Given the description of an element on the screen output the (x, y) to click on. 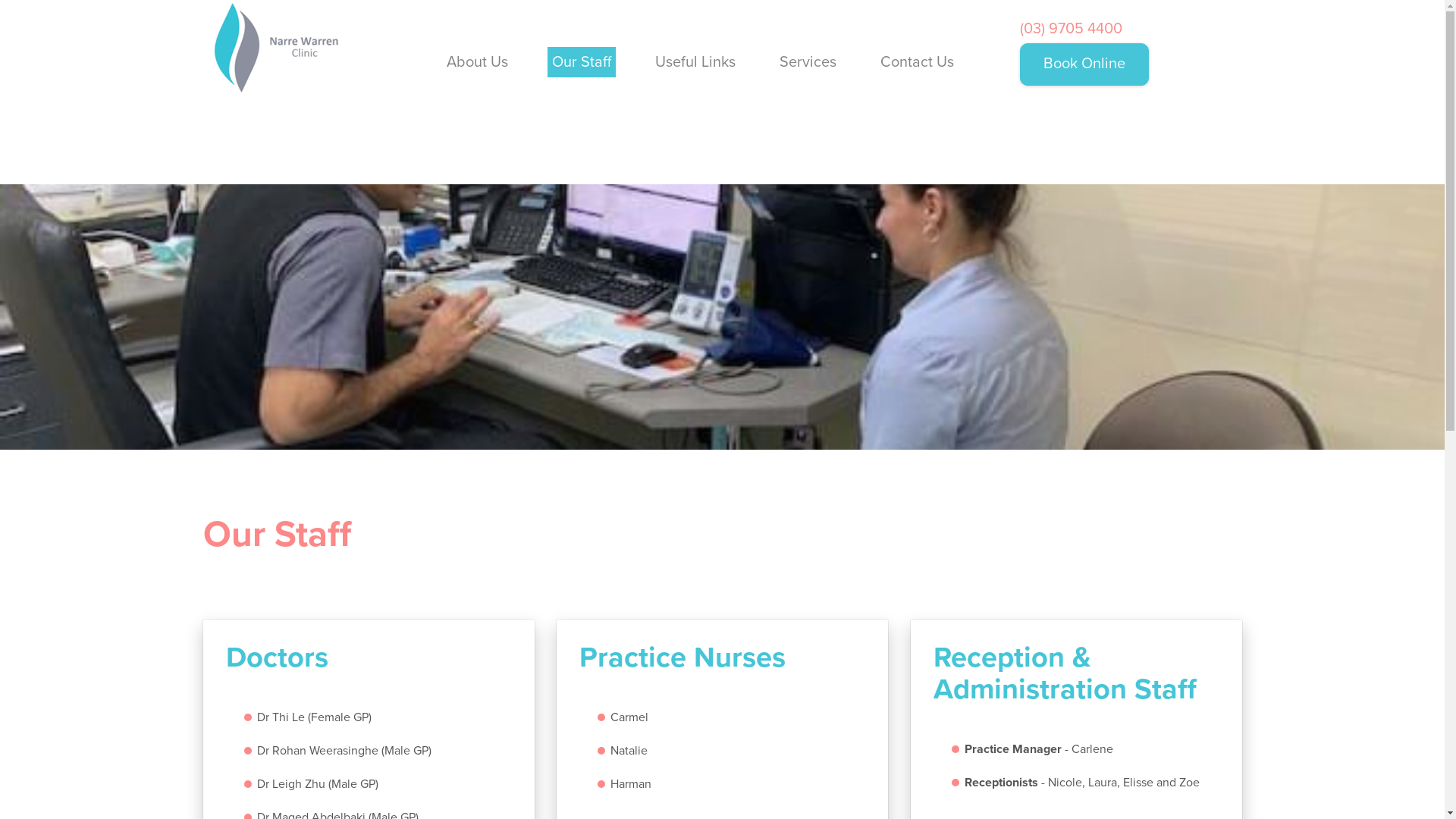
Services Element type: text (807, 62)
Our Staff Element type: text (581, 62)
Book Online Element type: text (1083, 64)
Contact Us Element type: text (916, 62)
About Us Element type: text (477, 62)
(03) 9705 4400 Element type: text (1070, 28)
Useful Links Element type: text (695, 62)
